Given the description of an element on the screen output the (x, y) to click on. 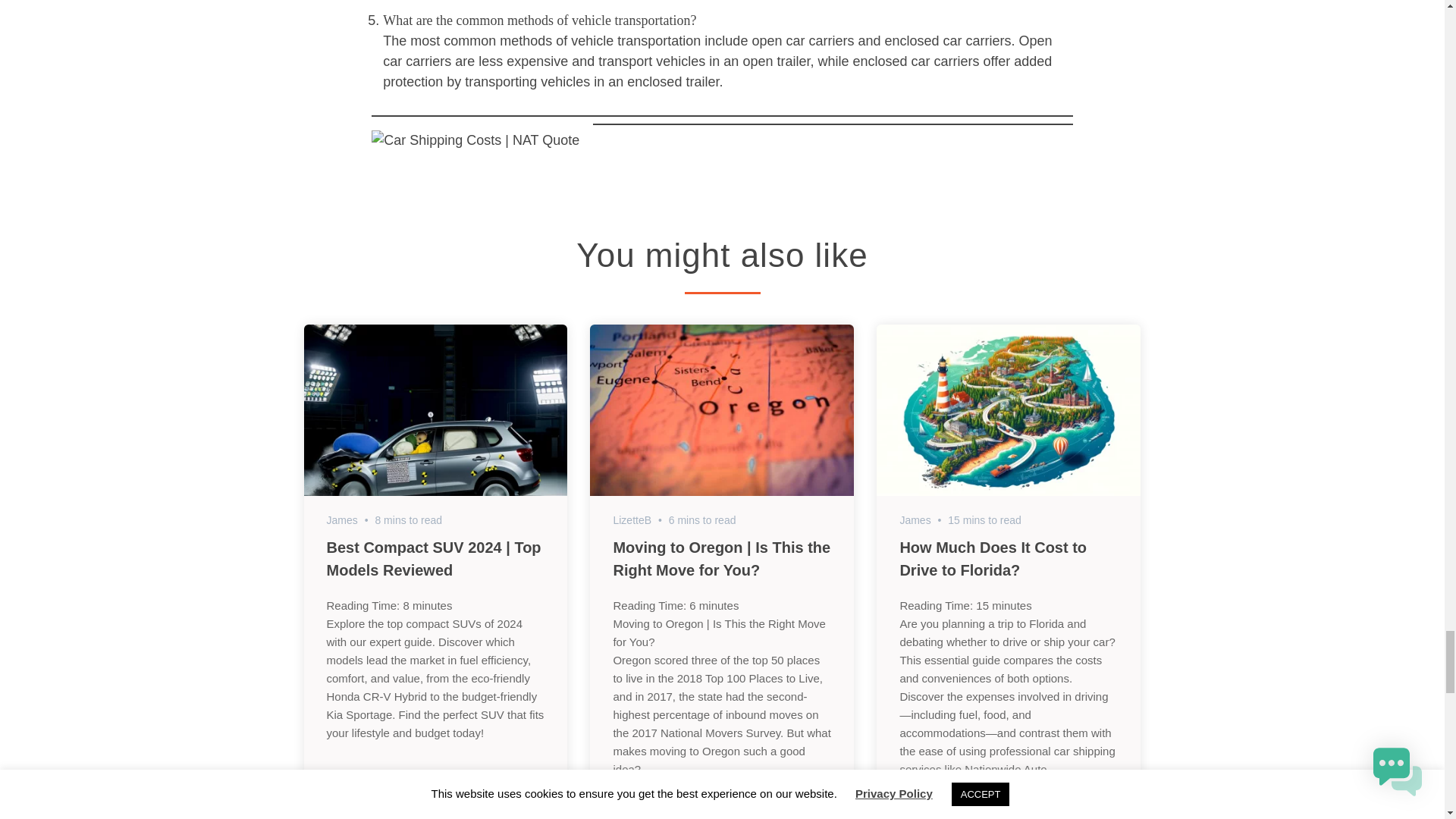
How Much Does It Cost to Drive to Florida? (992, 558)
